Given the description of an element on the screen output the (x, y) to click on. 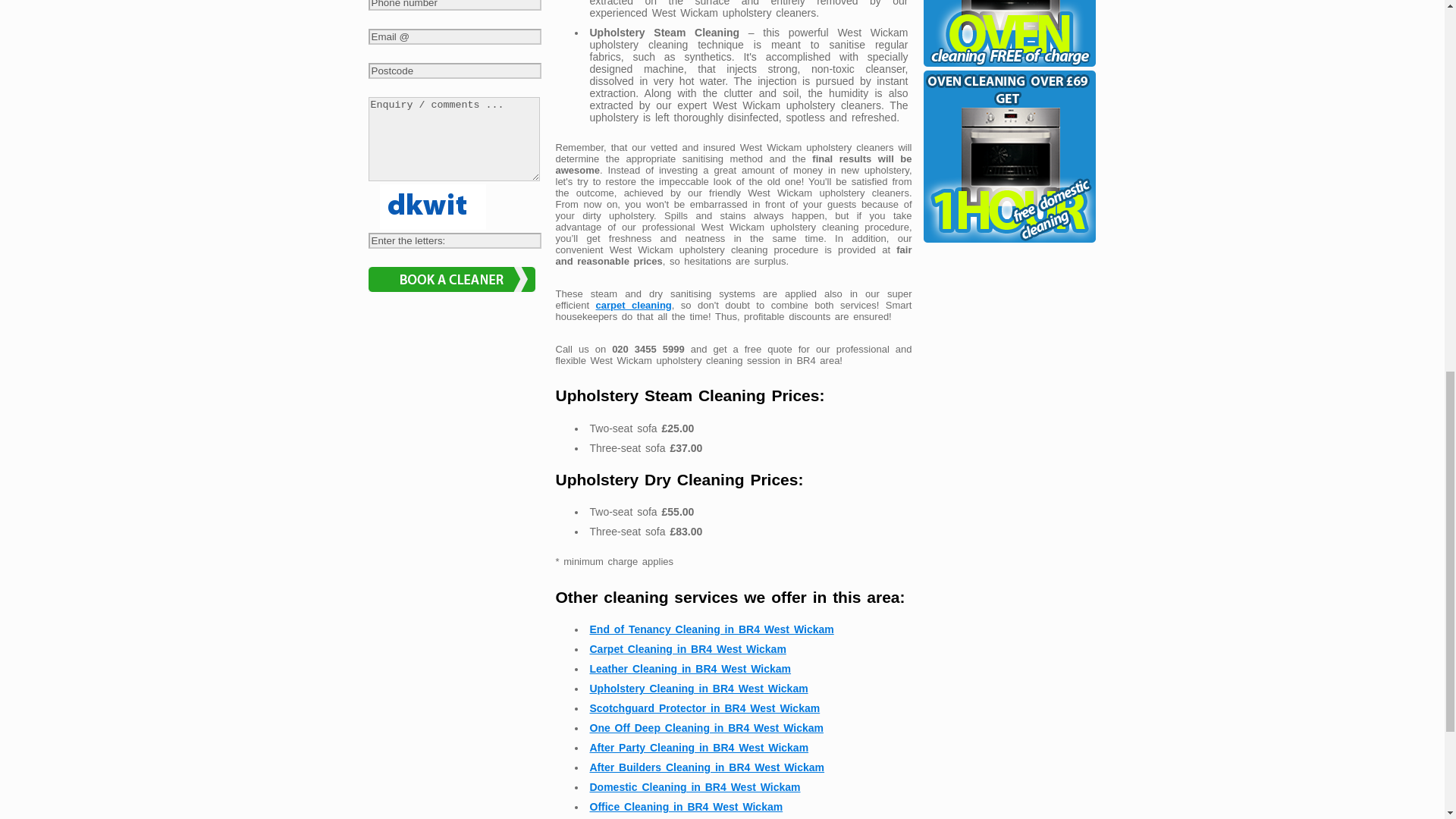
One Off Deep Cleaning in BR4 West Wickam (706, 727)
Upholstery Cleaning in BR4 West Wickam (698, 688)
Scotchguard Protector in BR4 West Wickam (705, 707)
Office Cleaning in BR4 West Wickam (686, 806)
Enter the letters: (454, 240)
Leather Cleaning in BR4 West Wickam (690, 668)
After Builders Cleaning in BR4 West Wickam (707, 767)
Postcode (454, 70)
Carpet Cleaning in BR4 West Wickam (687, 648)
End of Tenancy Cleaning in BR4 West Wickam (711, 629)
